Given the description of an element on the screen output the (x, y) to click on. 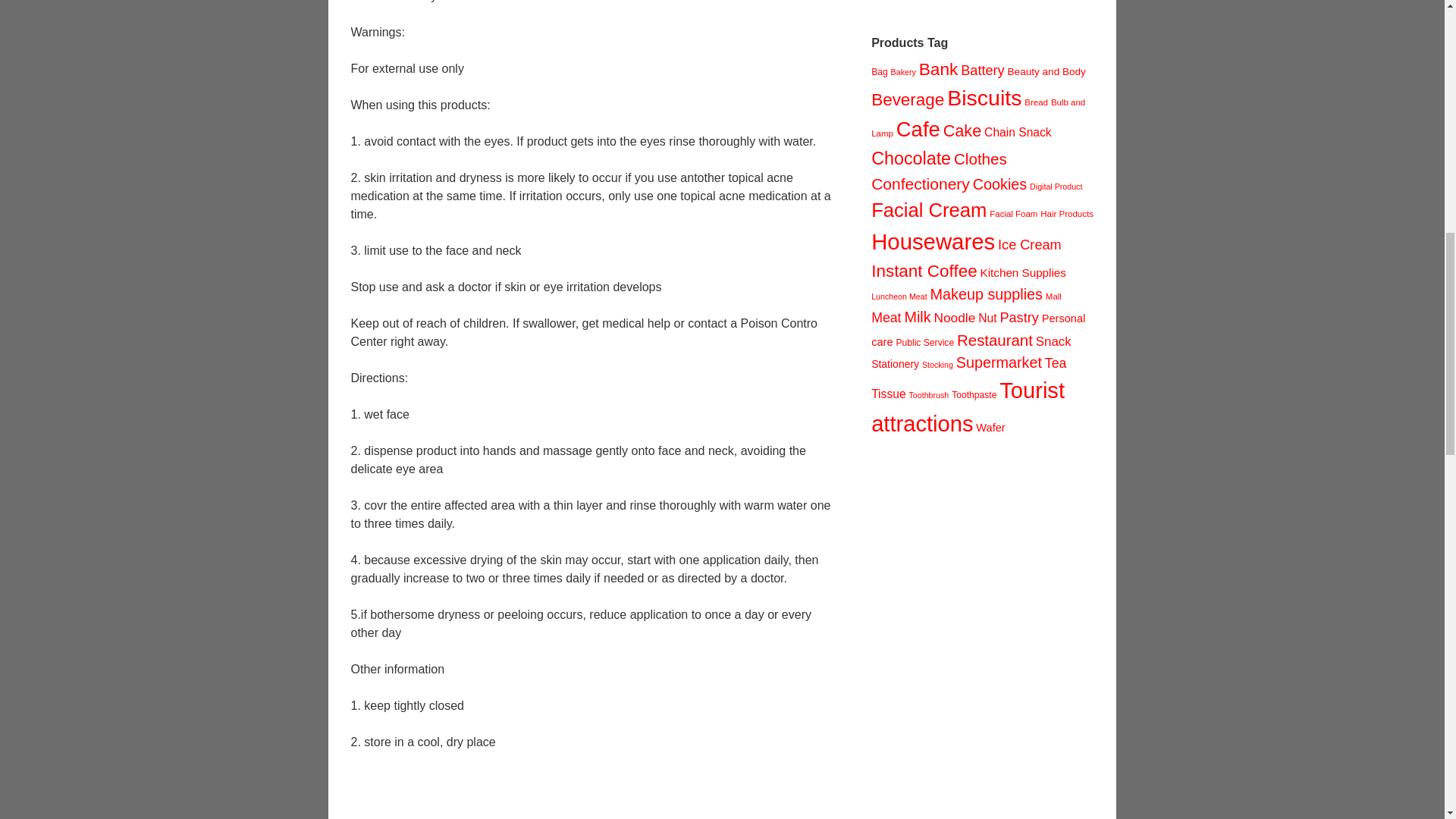
Advertisement (984, 2)
Bag (879, 71)
Advertisement (595, 794)
Battery (982, 70)
Advertisement (984, 642)
Bank (938, 68)
Beauty and Body (1046, 71)
Beverage (906, 99)
Bakery (903, 71)
